Given the description of an element on the screen output the (x, y) to click on. 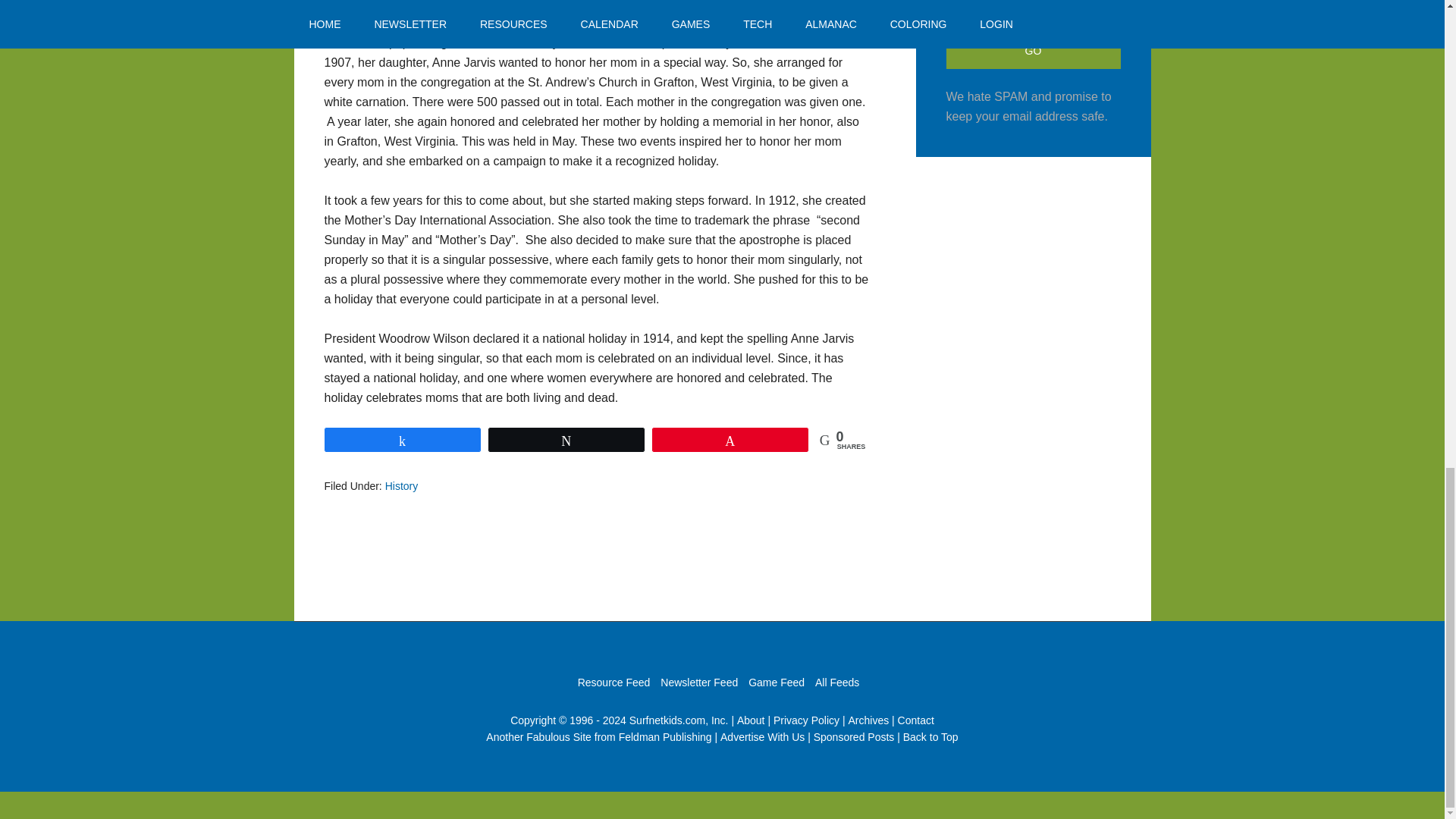
Go (1033, 50)
